Given the description of an element on the screen output the (x, y) to click on. 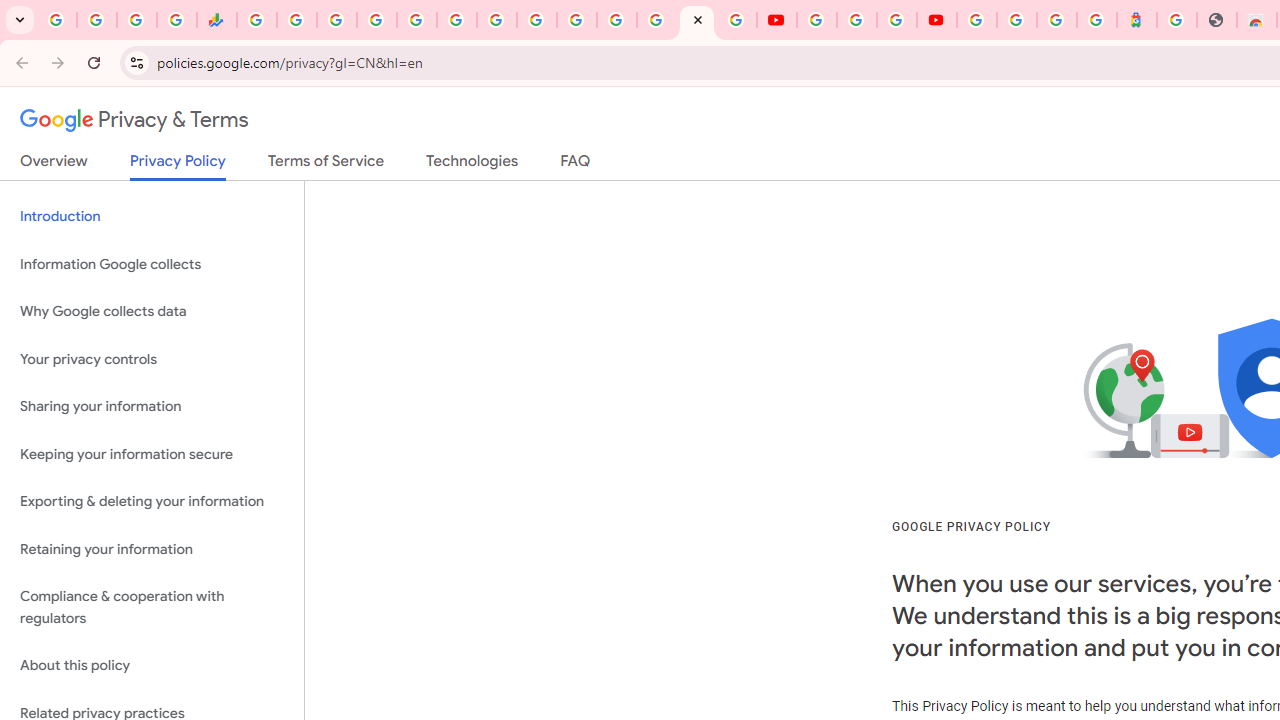
Your privacy controls (152, 358)
Retaining your information (152, 548)
About this policy (152, 666)
Overview (54, 165)
Back (19, 62)
Privacy Checkup (736, 20)
Android TV Policies and Guidelines - Transparency Center (497, 20)
Sign in - Google Accounts (376, 20)
Sign in - Google Accounts (977, 20)
YouTube (536, 20)
Create your Google Account (896, 20)
